Given the description of an element on the screen output the (x, y) to click on. 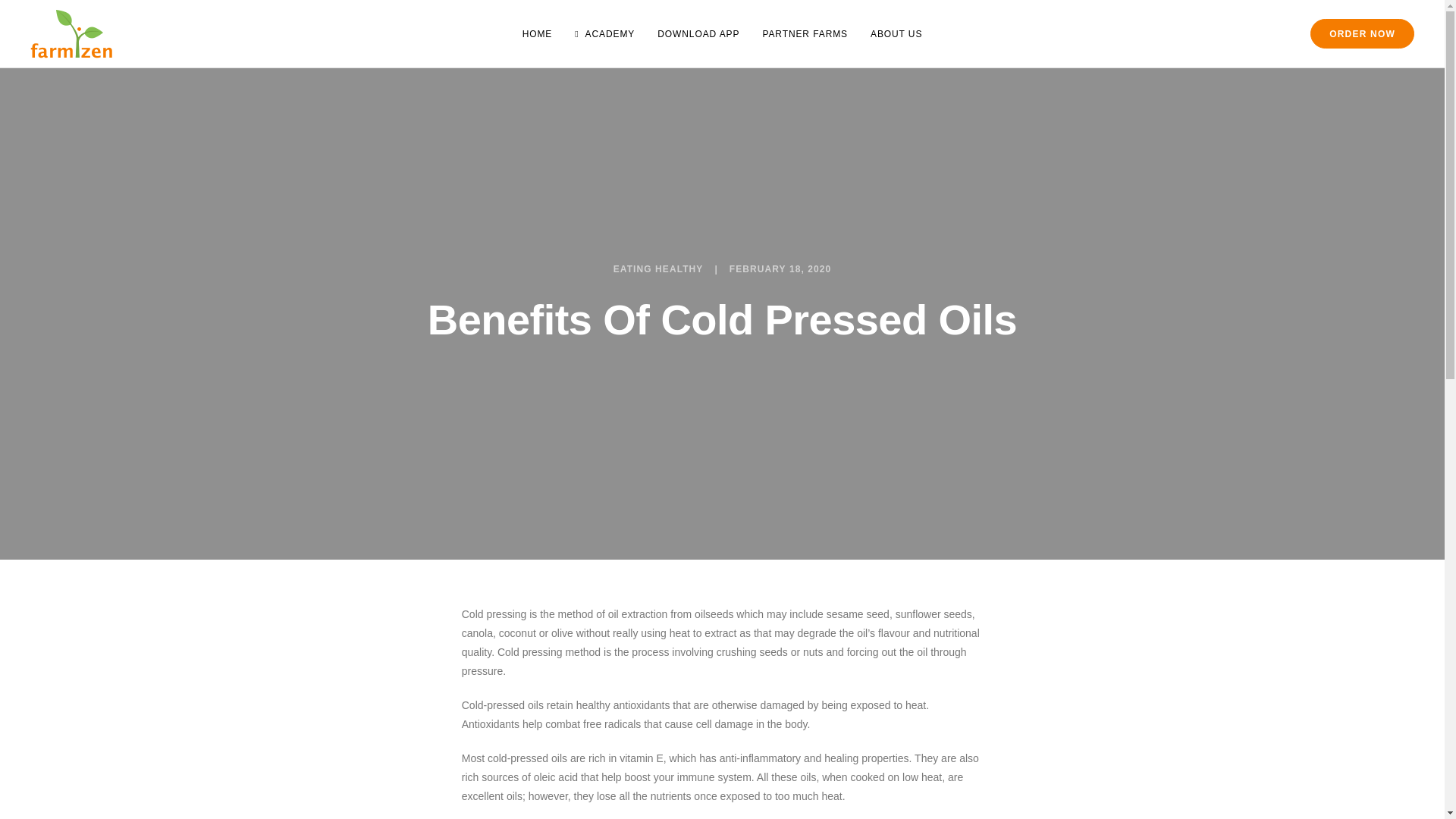
PARTNER FARMS (805, 33)
Eating Healthy (657, 268)
DOWNLOAD APP (698, 33)
ABOUT US (896, 33)
ACADEMY (604, 33)
ORDER NOW (1361, 33)
EATING HEALTHY (657, 268)
